Given the description of an element on the screen output the (x, y) to click on. 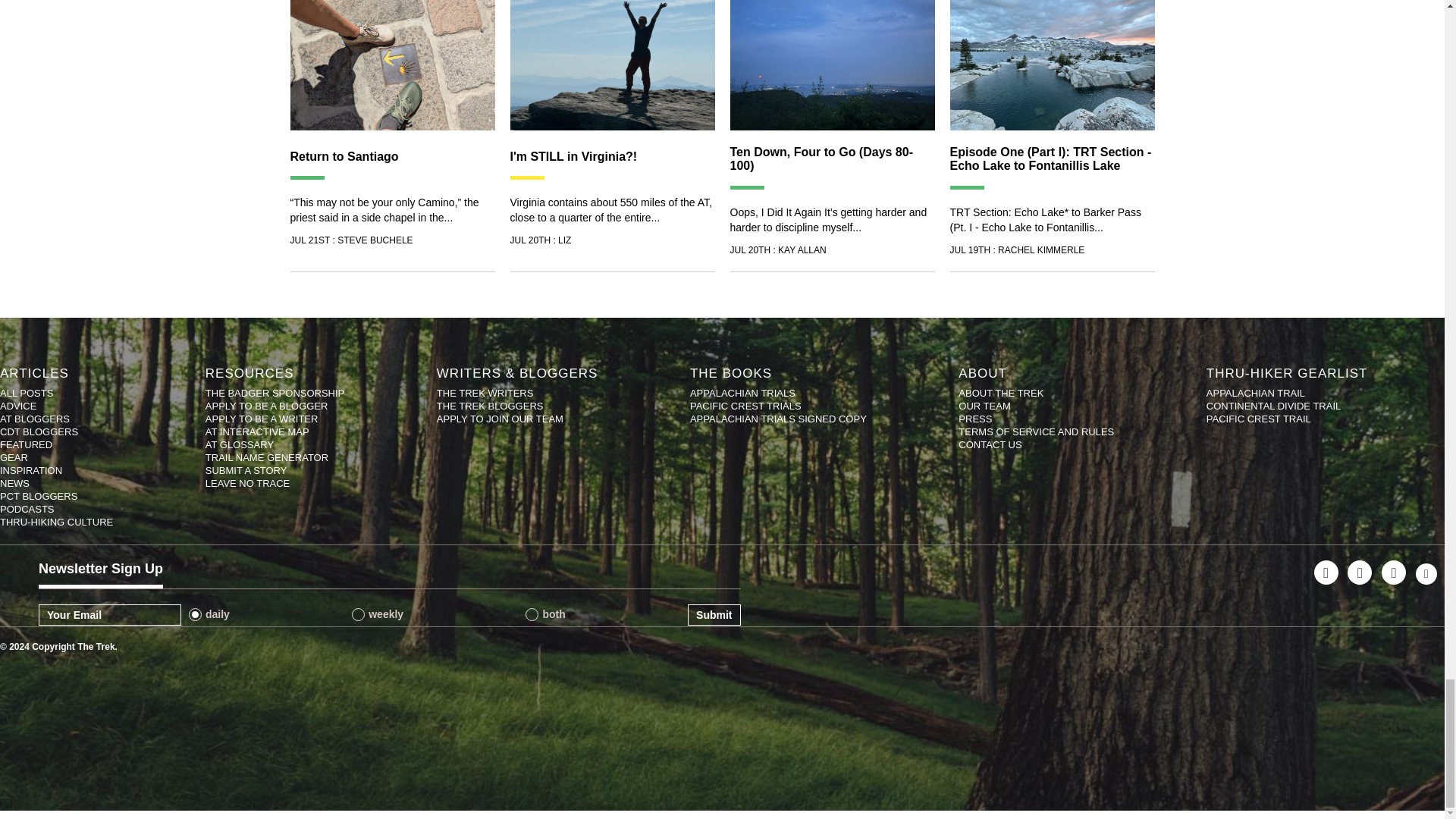
Sign Up (713, 614)
